Given the description of an element on the screen output the (x, y) to click on. 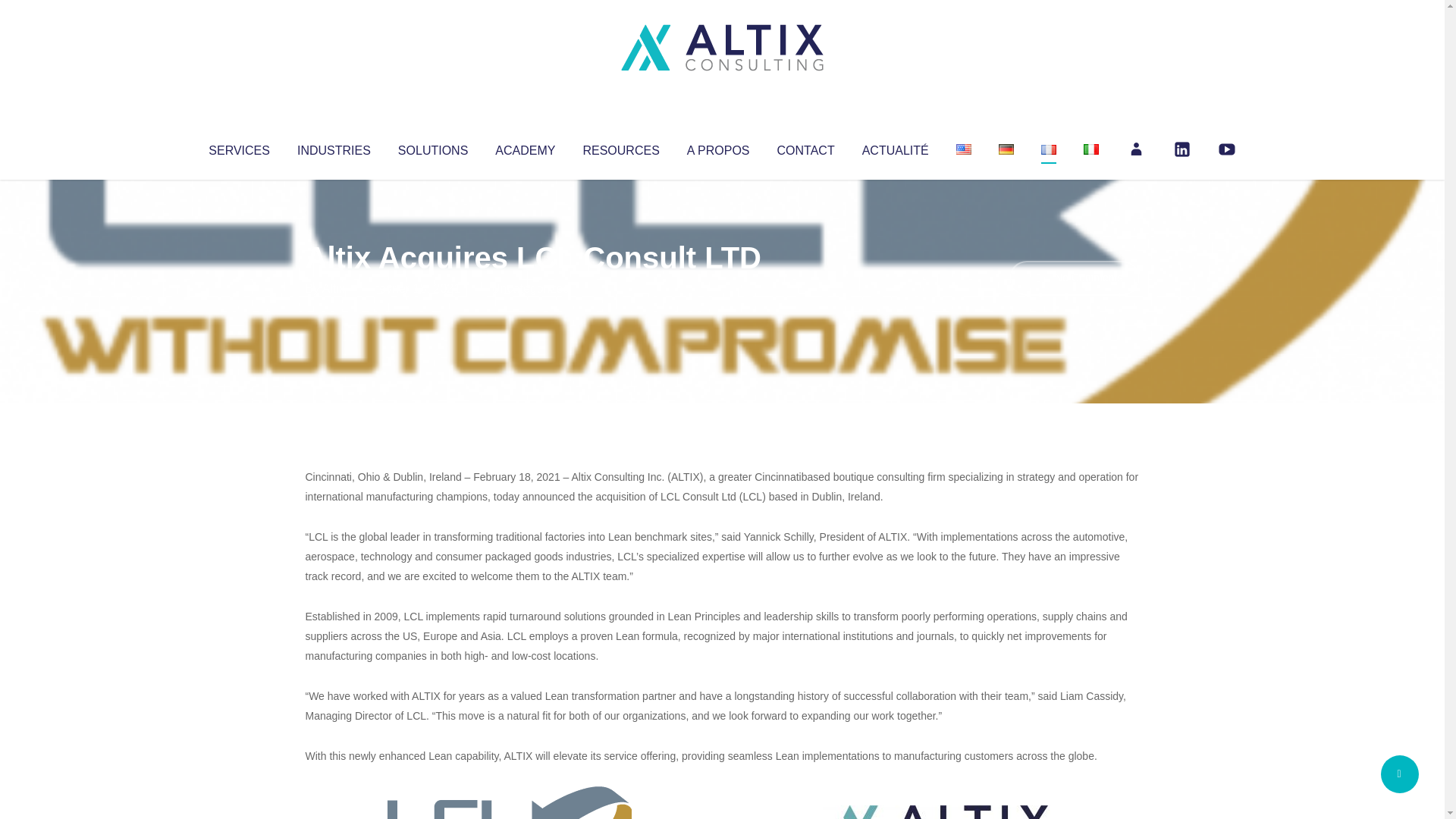
No Comments (1073, 278)
SOLUTIONS (432, 146)
INDUSTRIES (334, 146)
SERVICES (238, 146)
Uncategorized (530, 287)
RESOURCES (620, 146)
A PROPOS (718, 146)
Articles par Altix (333, 287)
Altix (333, 287)
ACADEMY (524, 146)
